Given the description of an element on the screen output the (x, y) to click on. 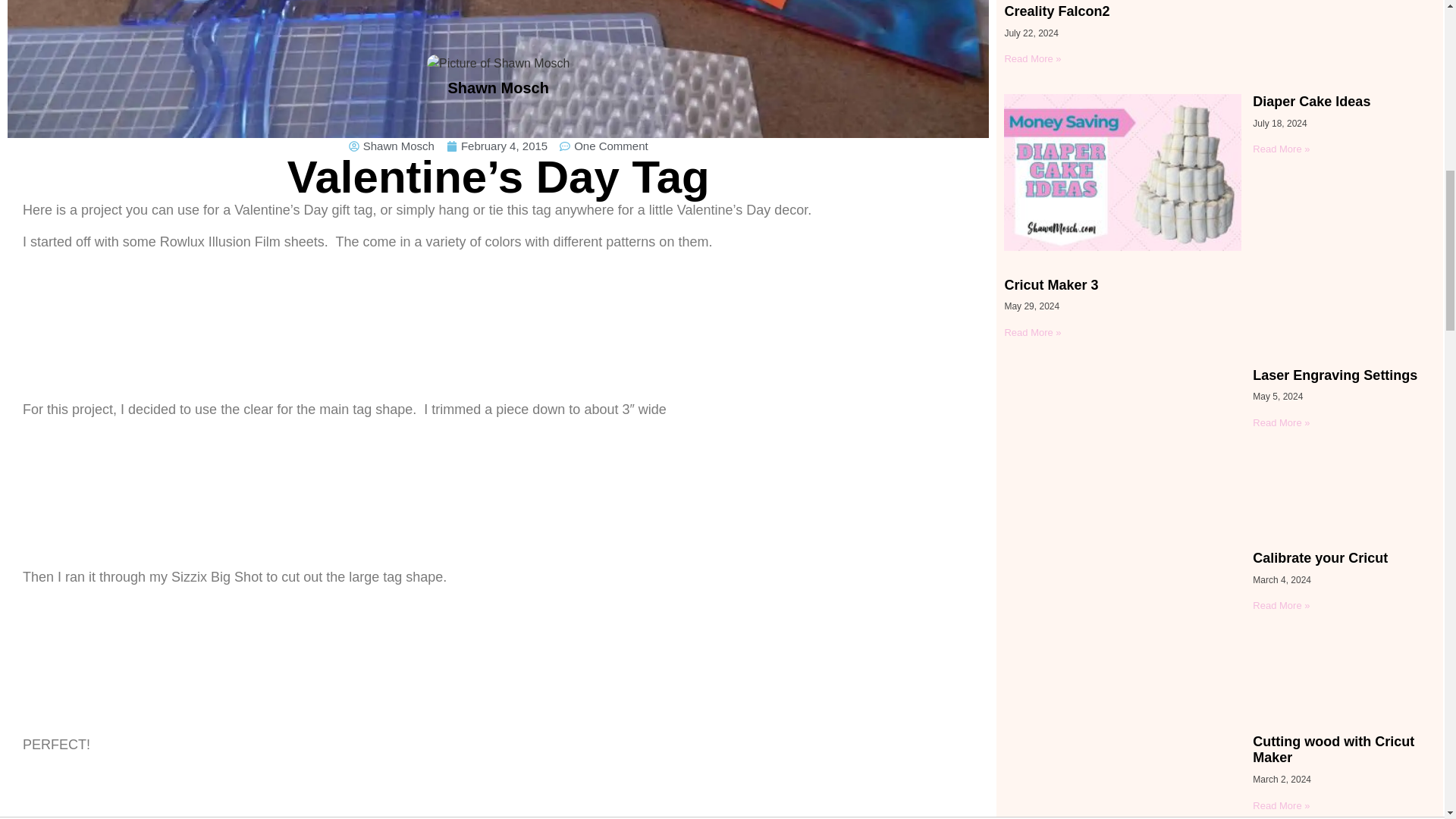
Shawn Mosch (391, 146)
One Comment (603, 146)
February 4, 2015 (496, 146)
